Given the description of an element on the screen output the (x, y) to click on. 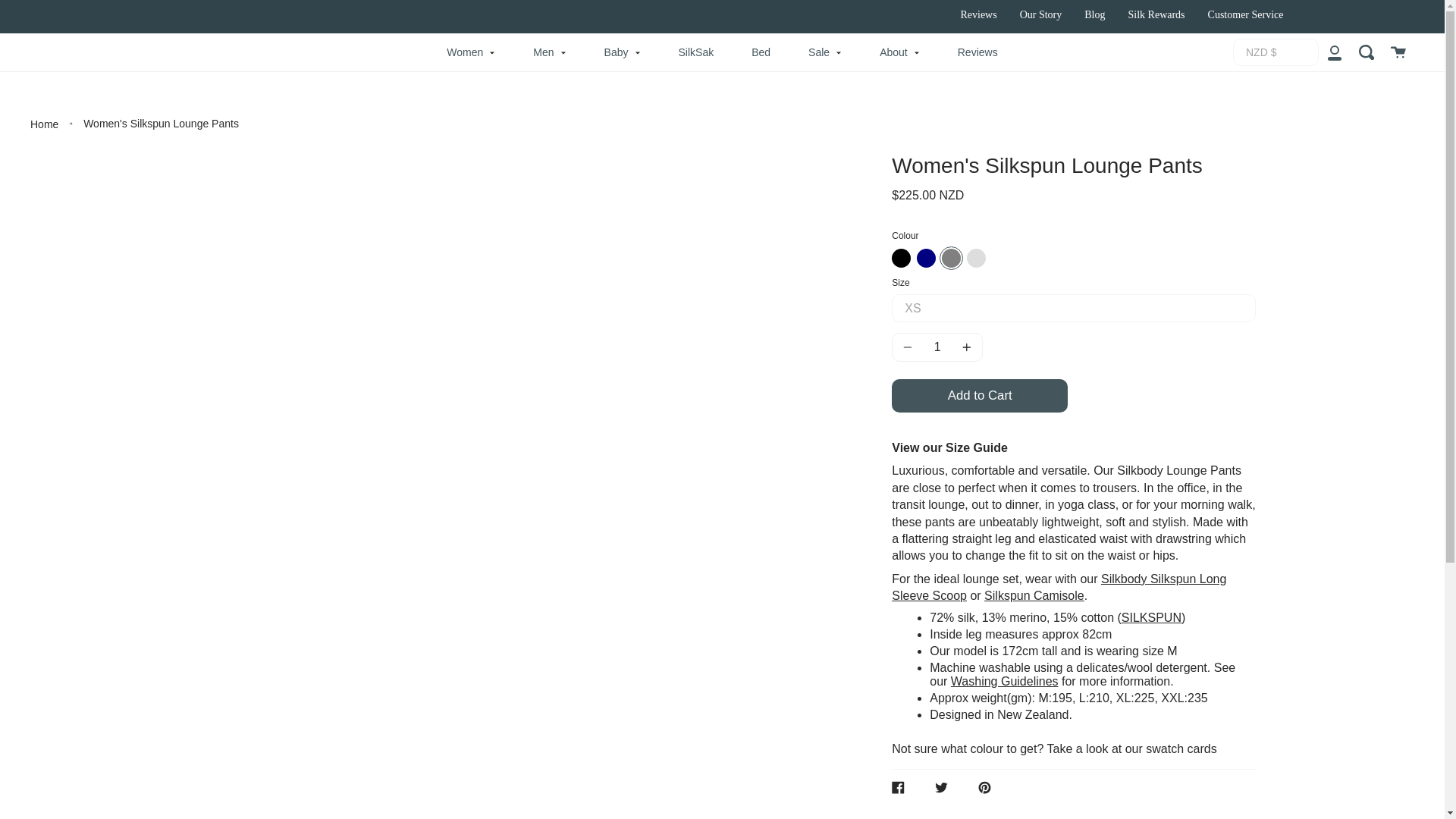
Reviews (977, 14)
Increase button quantity - Women's Silkspun Lounge Pants (964, 346)
Decrease button quantity - Women's Silkspun Lounge Pants (909, 346)
Men (549, 52)
Silkbody Silkspun Long Sleeve Scoop (1058, 586)
Customer Service (1246, 14)
SilkSak (696, 52)
1 (936, 346)
Silkbody Silkspun Camisole (1034, 594)
